Given the description of an element on the screen output the (x, y) to click on. 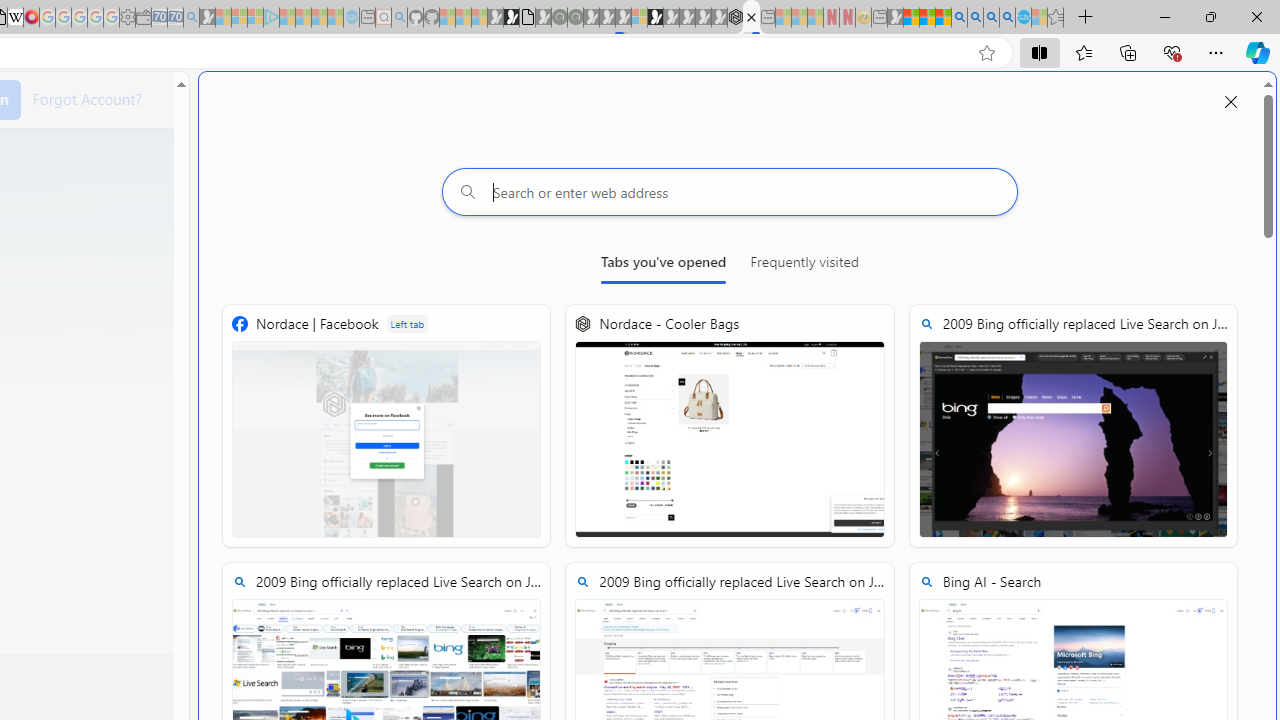
Settings - Sleeping (127, 17)
MediaWiki (31, 17)
Favorites - Sleeping (1055, 17)
Microsoft Start Gaming - Sleeping (207, 17)
2009 Bing officially replaced Live Search on June 3 - Search (975, 17)
Frequently visited (805, 265)
github - Search - Sleeping (399, 17)
